Given the description of an element on the screen output the (x, y) to click on. 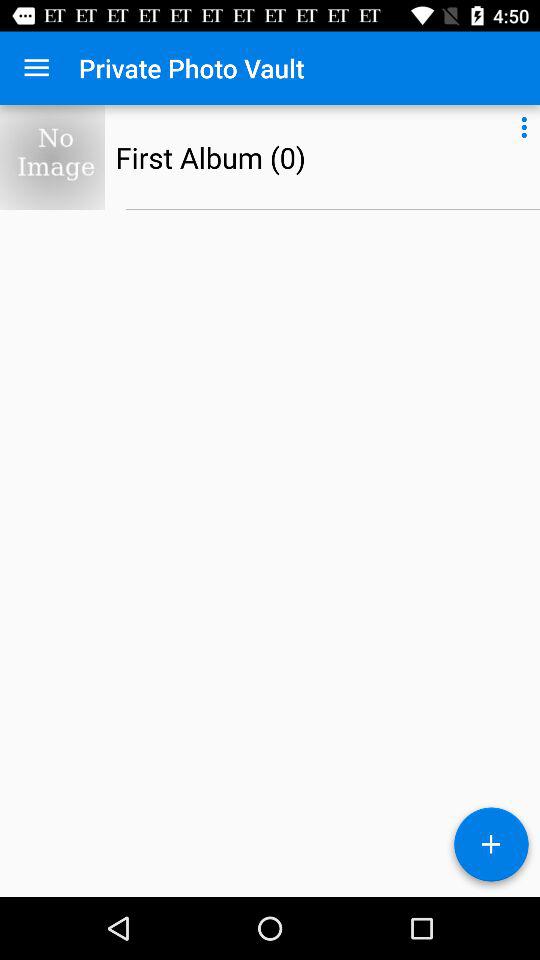
go the add (491, 848)
